Given the description of an element on the screen output the (x, y) to click on. 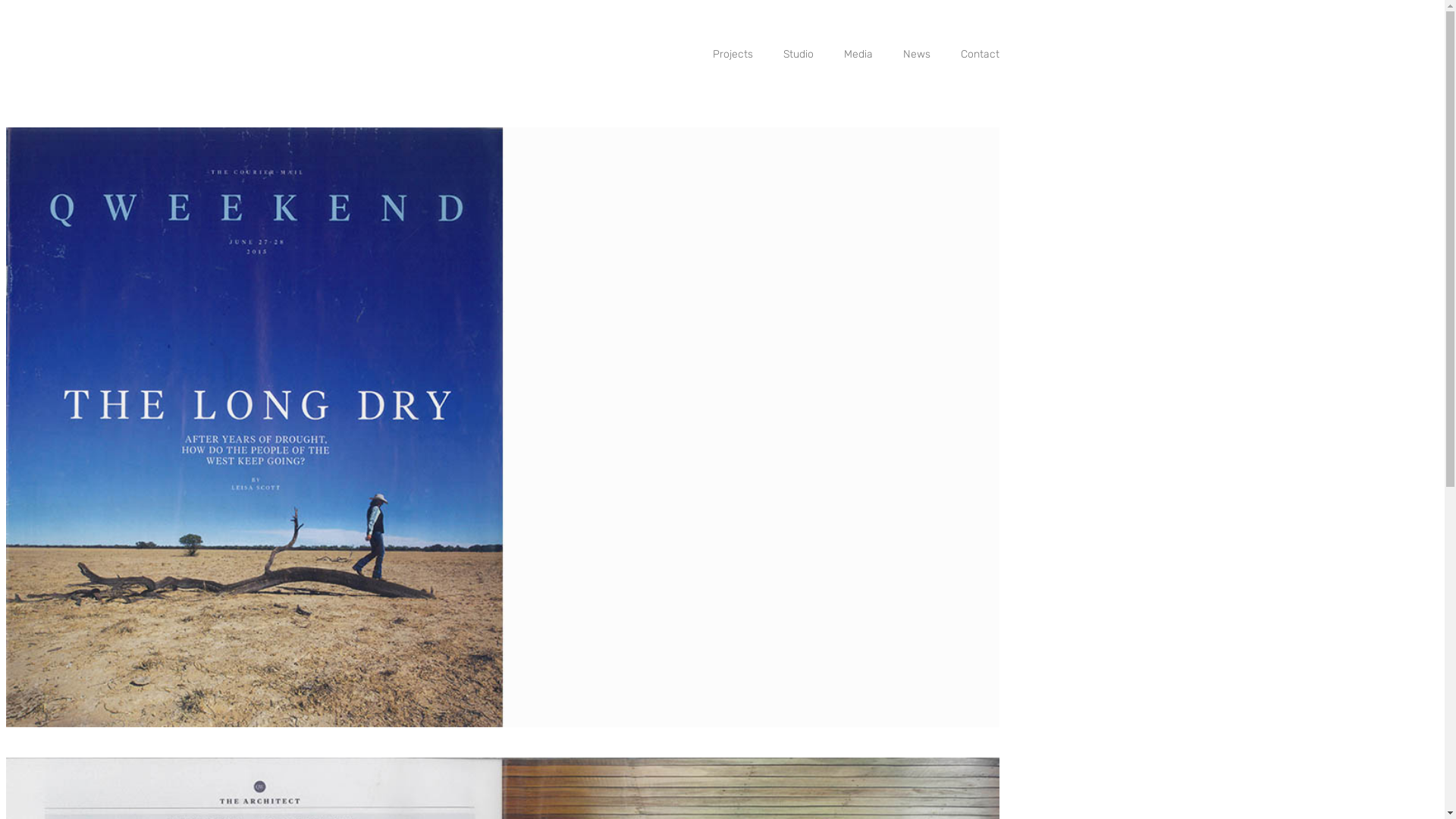
Contact Element type: text (964, 53)
Projects Element type: text (717, 53)
Studio Element type: text (783, 53)
News Element type: text (901, 53)
Media Element type: text (842, 53)
